Given the description of an element on the screen output the (x, y) to click on. 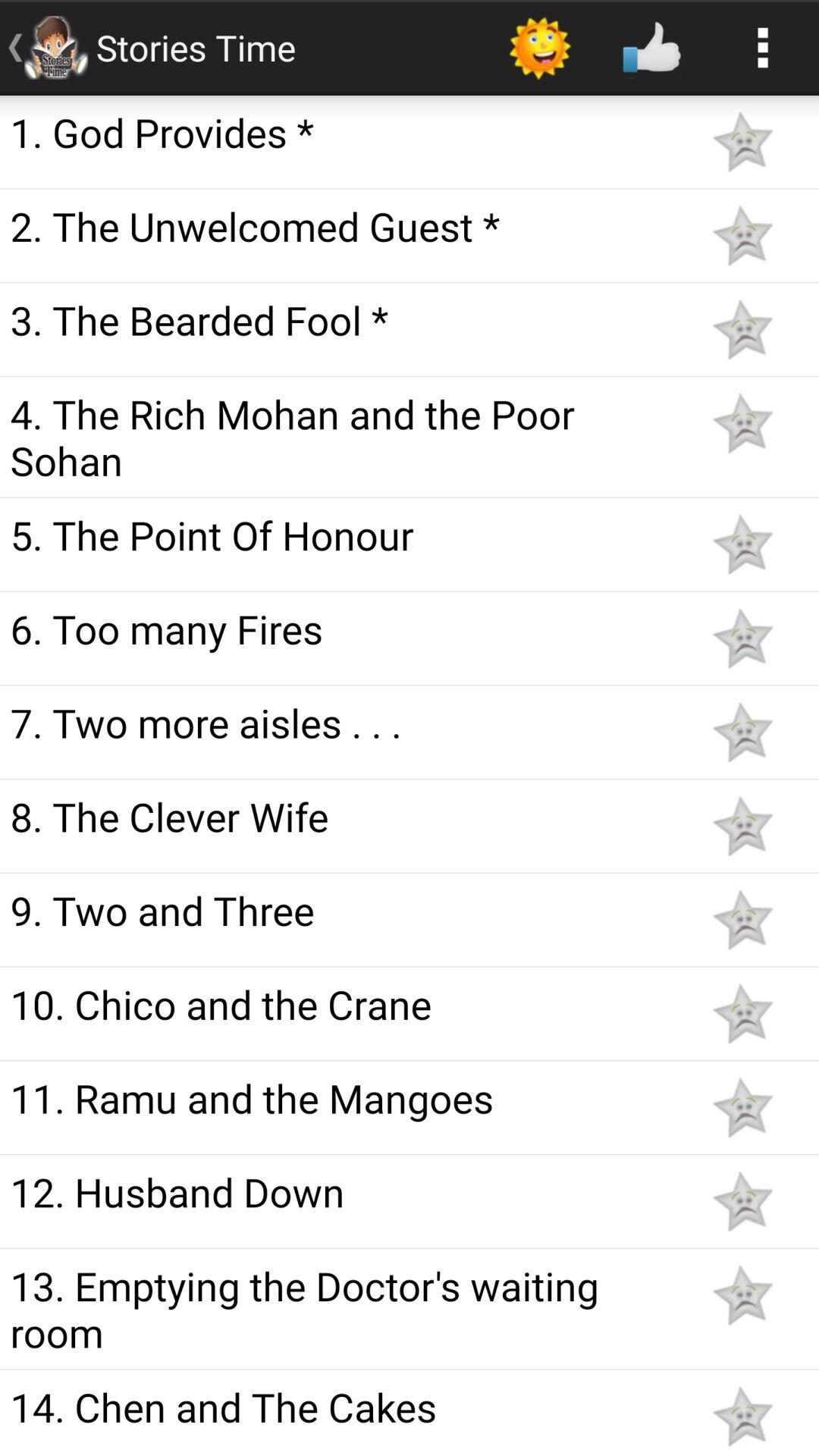
scroll until the 12. husband down item (343, 1191)
